Given the description of an element on the screen output the (x, y) to click on. 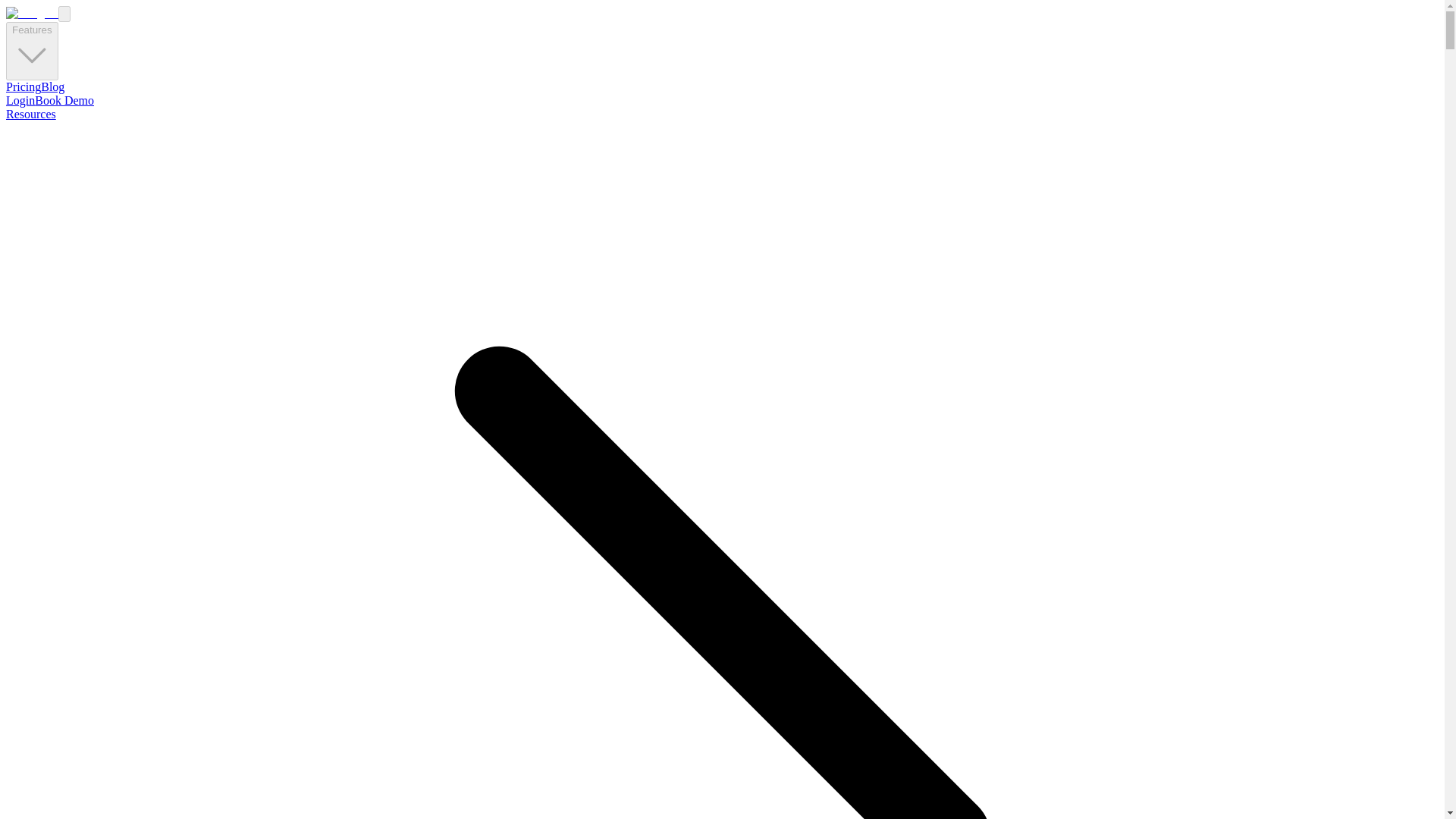
Blog (52, 86)
Features (31, 51)
Book Demo (64, 100)
Login (19, 100)
Resources (30, 113)
Pricing (22, 86)
